Given the description of an element on the screen output the (x, y) to click on. 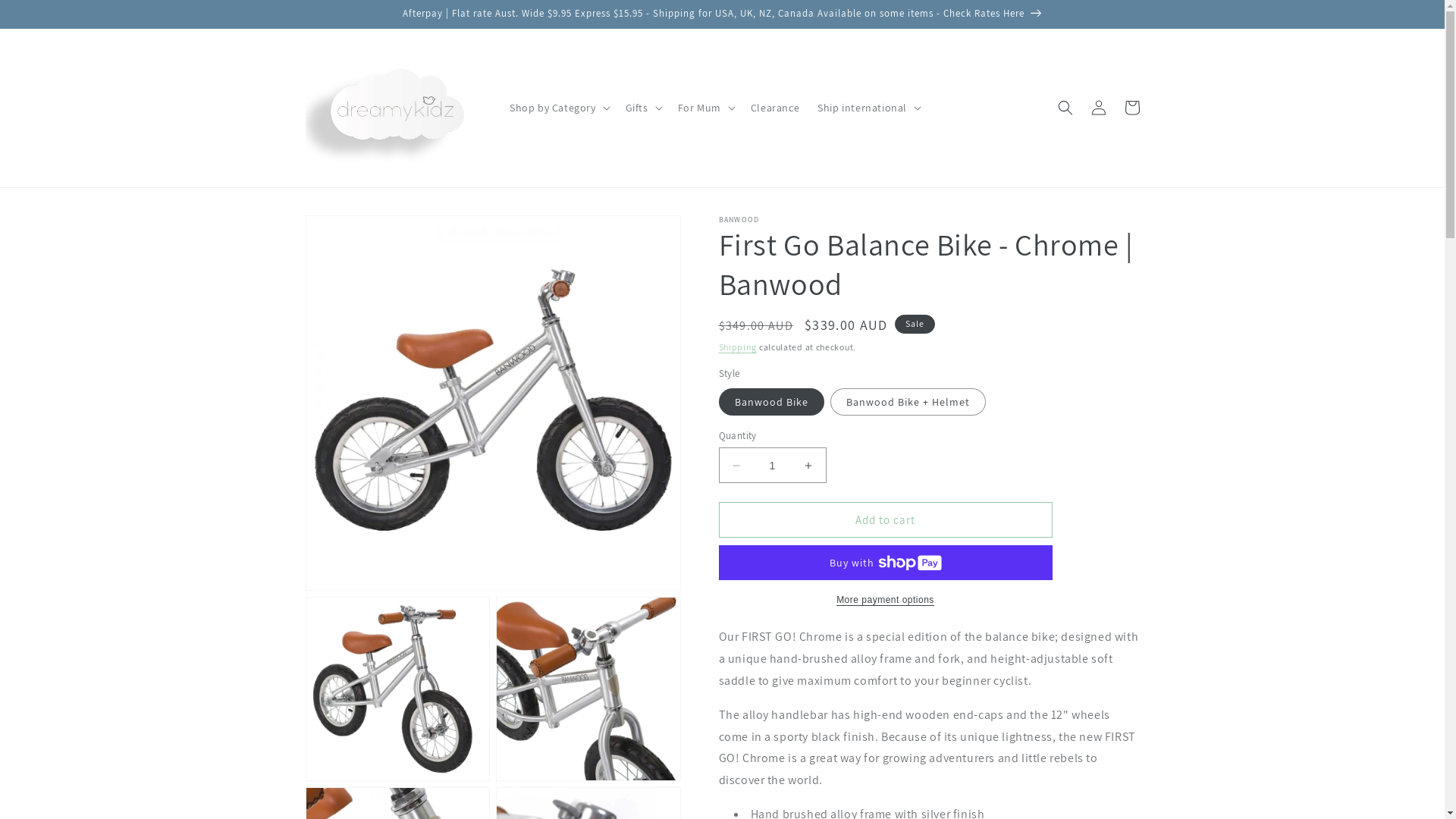
Skip to product information Element type: text (350, 232)
Cart Element type: text (1131, 107)
More payment options Element type: text (885, 599)
Shipping Element type: text (737, 346)
Clearance Element type: text (774, 107)
Log in Element type: text (1097, 107)
Add to cart Element type: text (885, 519)
